Given the description of an element on the screen output the (x, y) to click on. 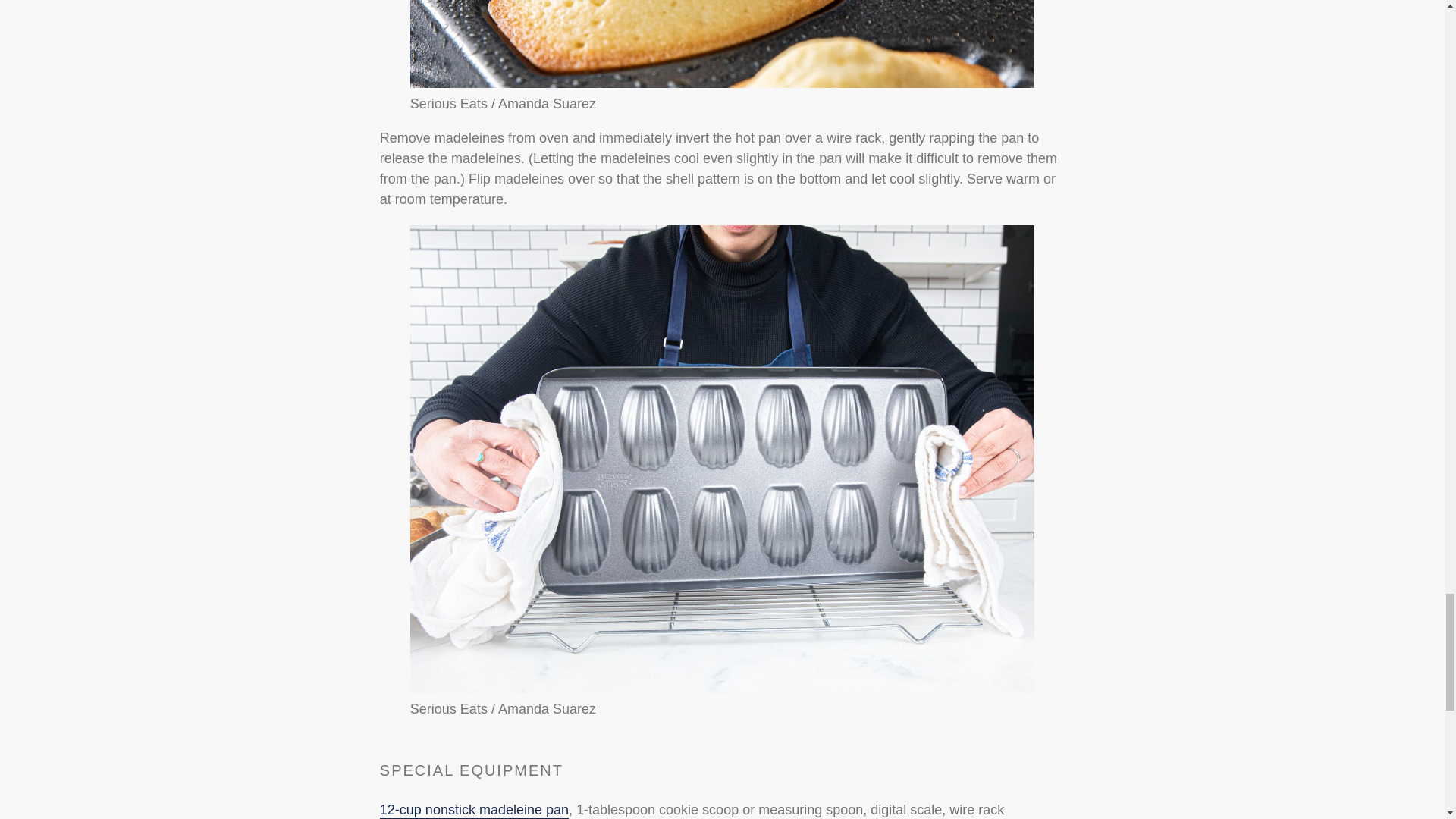
12-cup nonstick madeleine pan (474, 810)
